Given the description of an element on the screen output the (x, y) to click on. 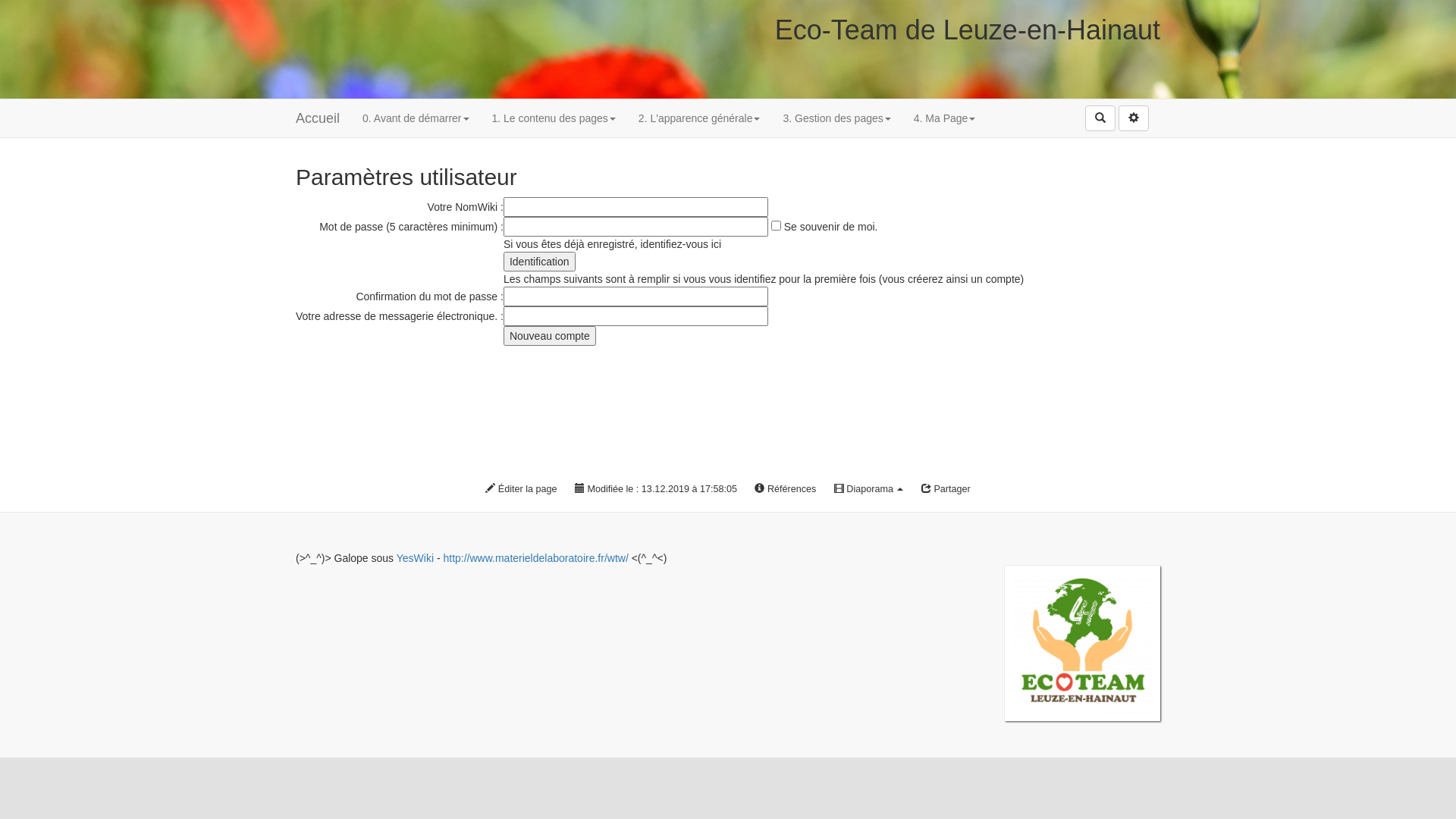
YesWiki Element type: text (414, 558)
Identification Element type: text (539, 261)
3. Gestion des pages Element type: text (836, 118)
4. Ma Page Element type: text (944, 118)
Accueil Element type: text (317, 118)
http://www.materieldelaboratoire.fr/wtw/ Element type: text (534, 558)
 Diaporama Element type: text (868, 489)
Rechercher Element type: text (1100, 118)
1. Le contenu des pages Element type: text (553, 118)
 Partager Element type: text (945, 489)
Nouveau compte Element type: text (549, 335)
